Given the description of an element on the screen output the (x, y) to click on. 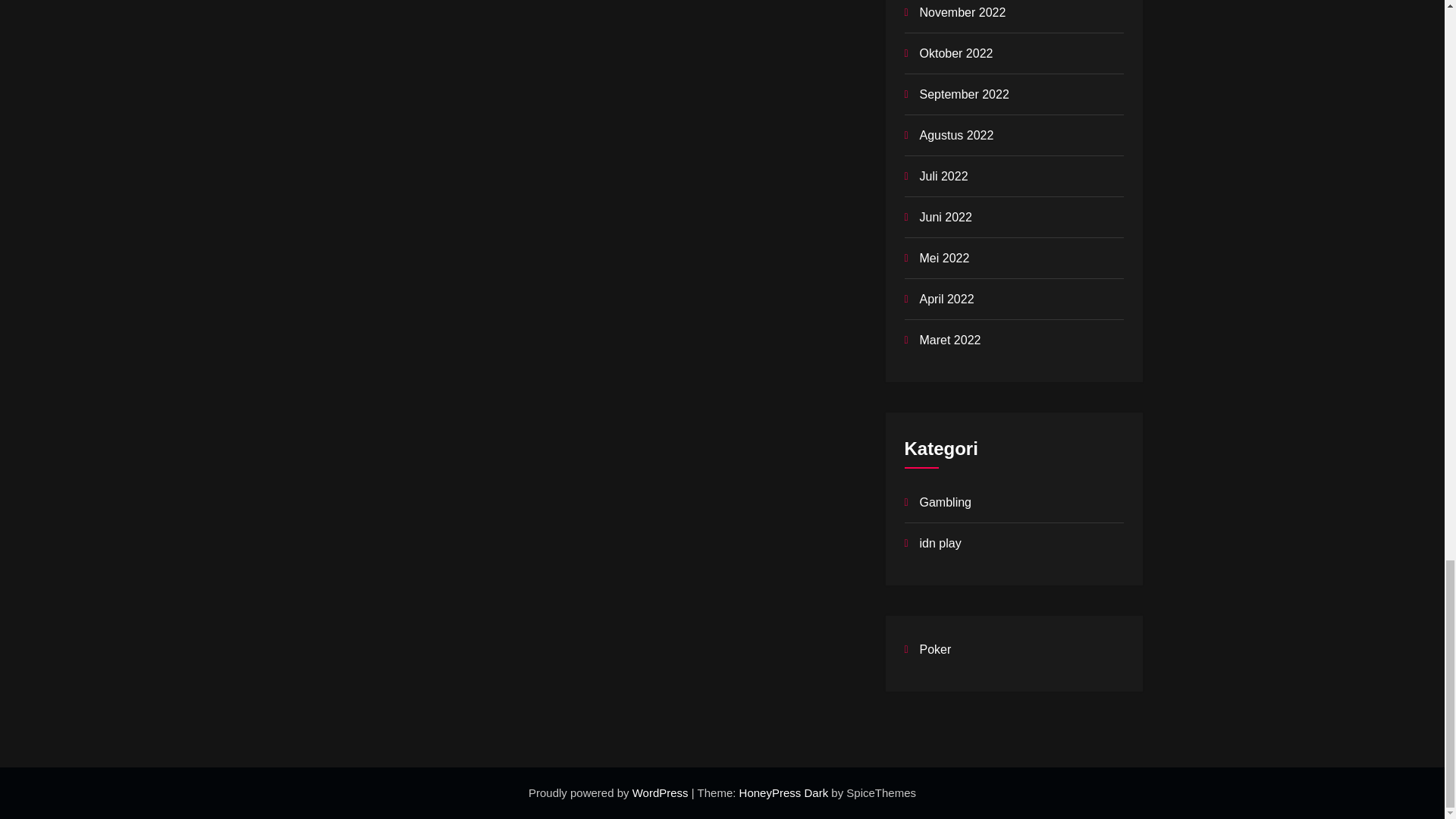
November 2022 (962, 11)
Agustus 2022 (955, 134)
September 2022 (963, 93)
Juli 2022 (943, 175)
Oktober 2022 (955, 52)
